Given the description of an element on the screen output the (x, y) to click on. 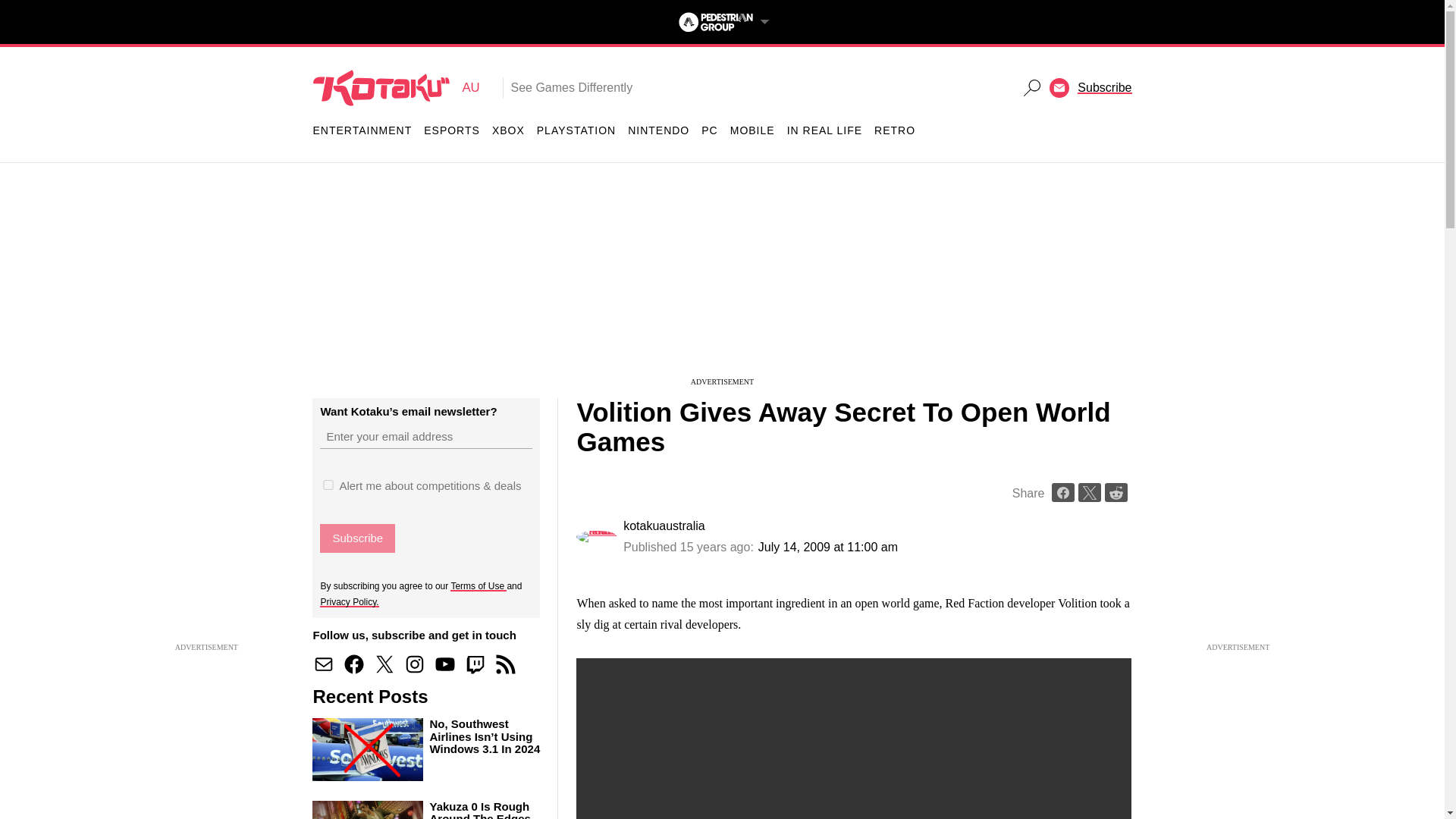
Subscribe (1104, 87)
3rd party ad content (396, 87)
3rd party ad content (721, 280)
facebook (508, 130)
feed (353, 663)
ESPORTS (505, 663)
twitch (451, 130)
Subscribe (475, 663)
youtube (357, 538)
Subscribe (445, 663)
X (771, 449)
ENTERTAINMENT (384, 663)
PLAYSTATION (362, 130)
